Given the description of an element on the screen output the (x, y) to click on. 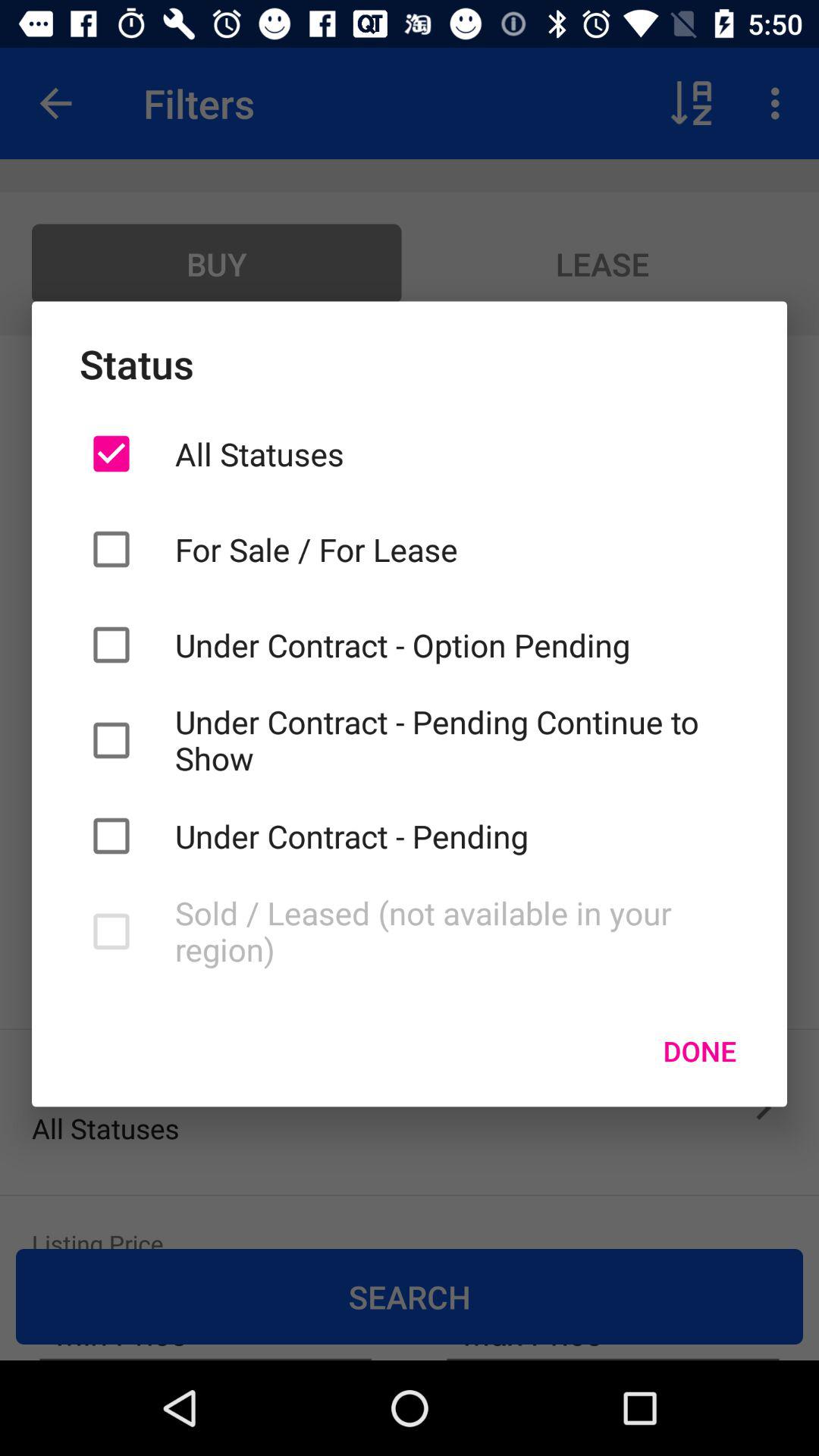
launch the icon below the status icon (457, 453)
